Given the description of an element on the screen output the (x, y) to click on. 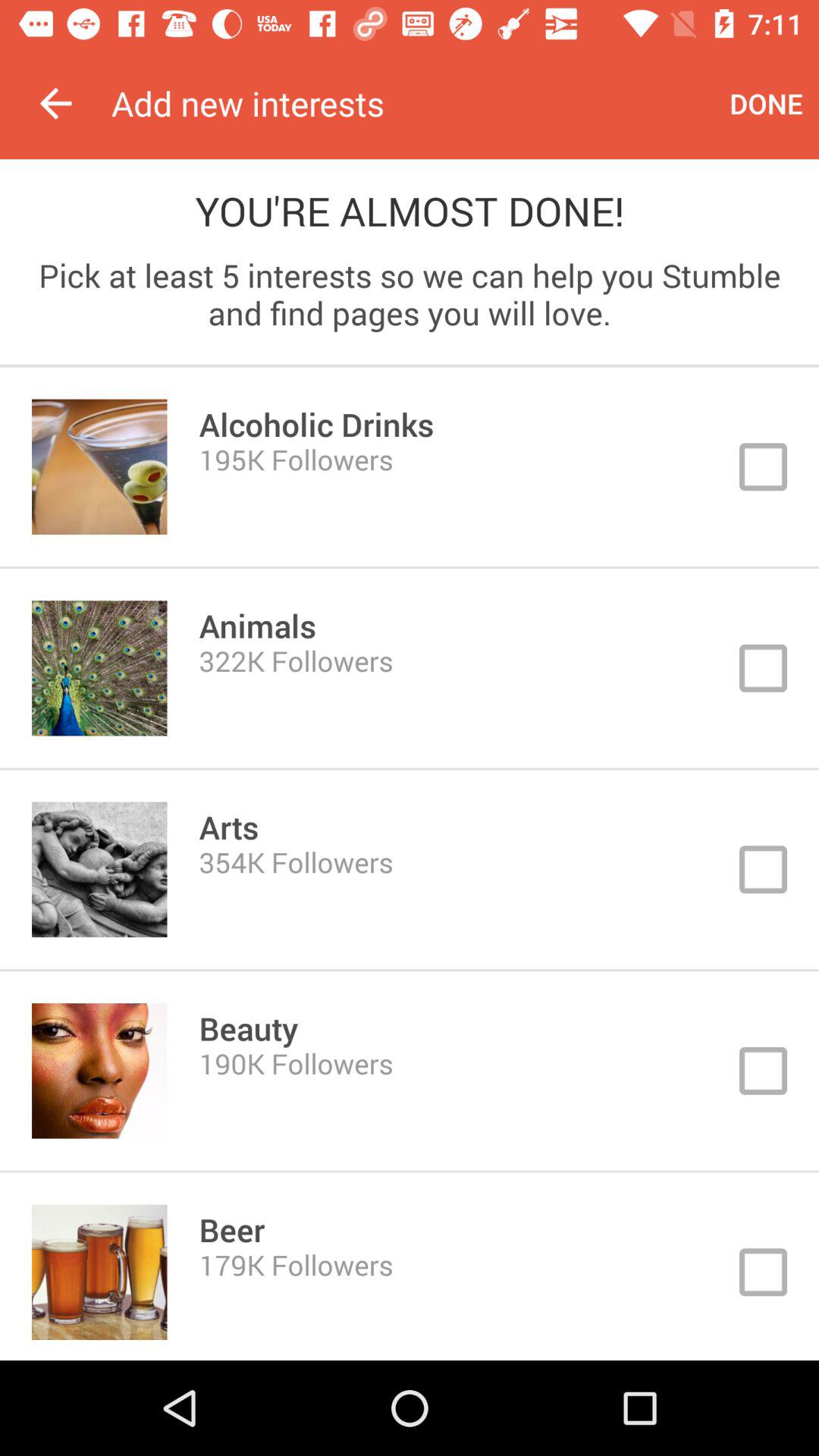
choose button (409, 466)
